Given the description of an element on the screen output the (x, y) to click on. 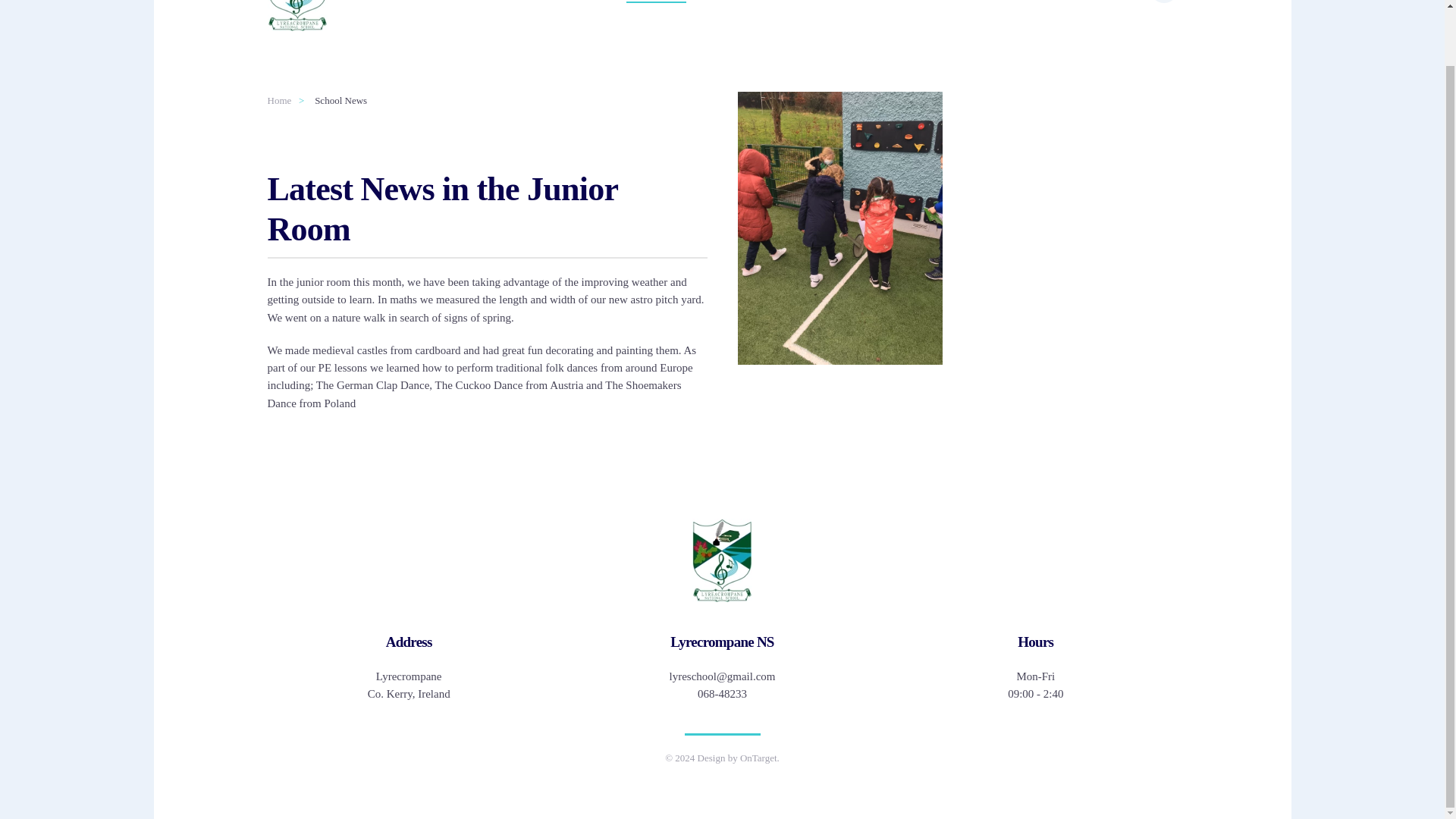
School History (1003, 9)
Contact Us (1093, 9)
Lyrecrompane NS (721, 642)
Home (278, 100)
068-48233 (721, 693)
Information (807, 9)
OnTarget (758, 757)
Address (408, 642)
Parents (732, 9)
School News (656, 9)
